Given the description of an element on the screen output the (x, y) to click on. 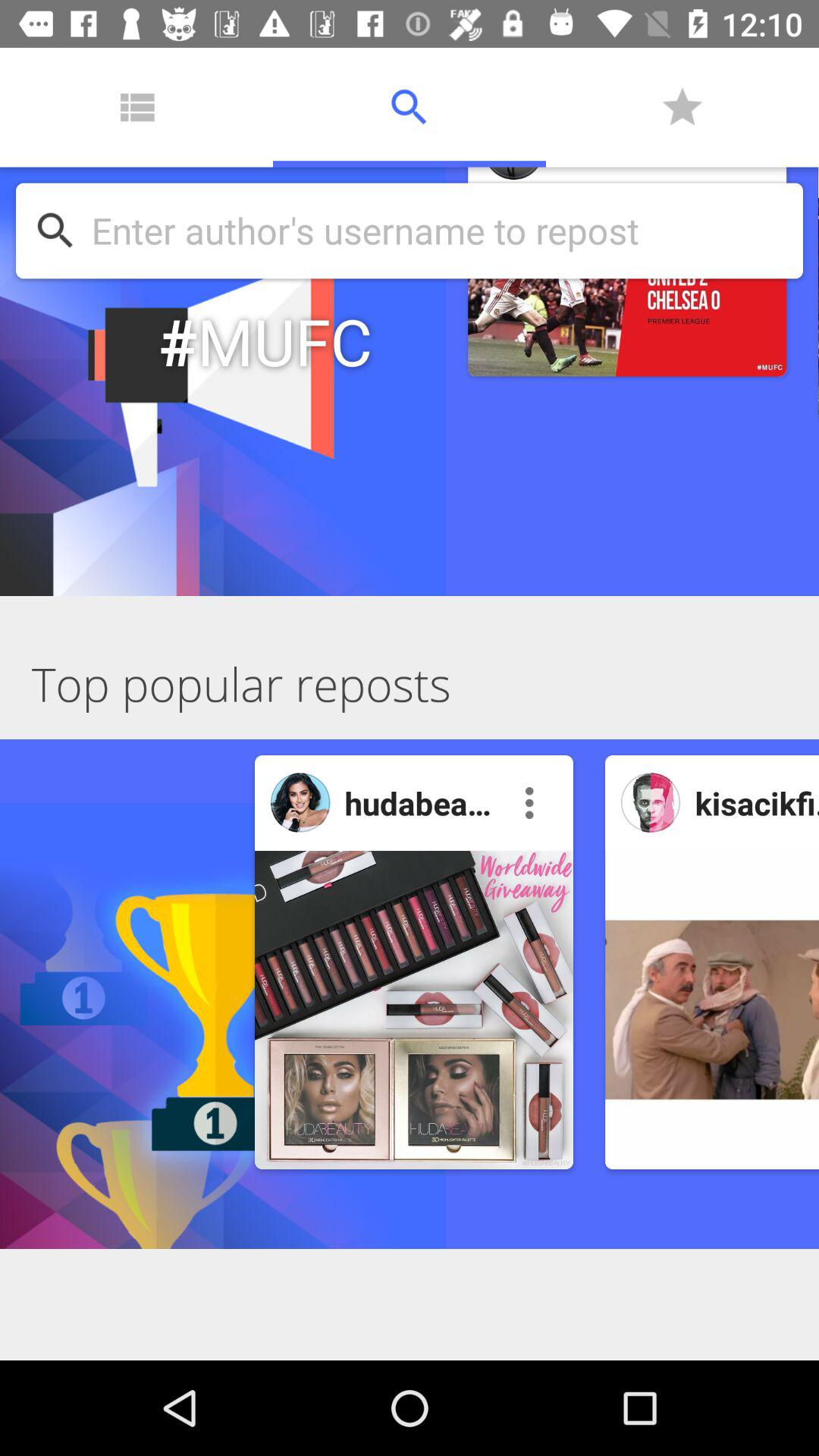
view post (712, 1009)
